Given the description of an element on the screen output the (x, y) to click on. 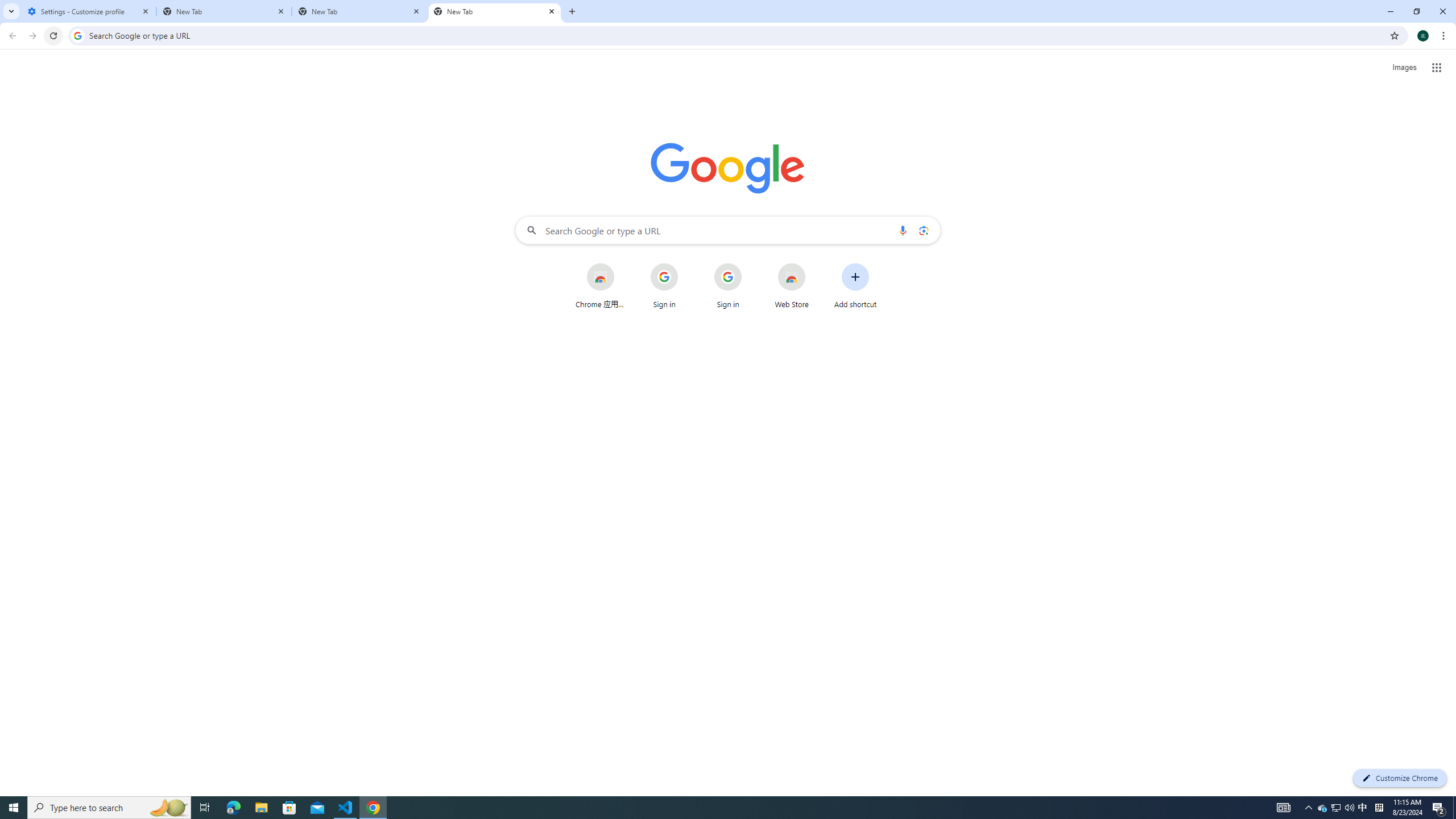
Settings - Customize profile (88, 11)
